Given the description of an element on the screen output the (x, y) to click on. 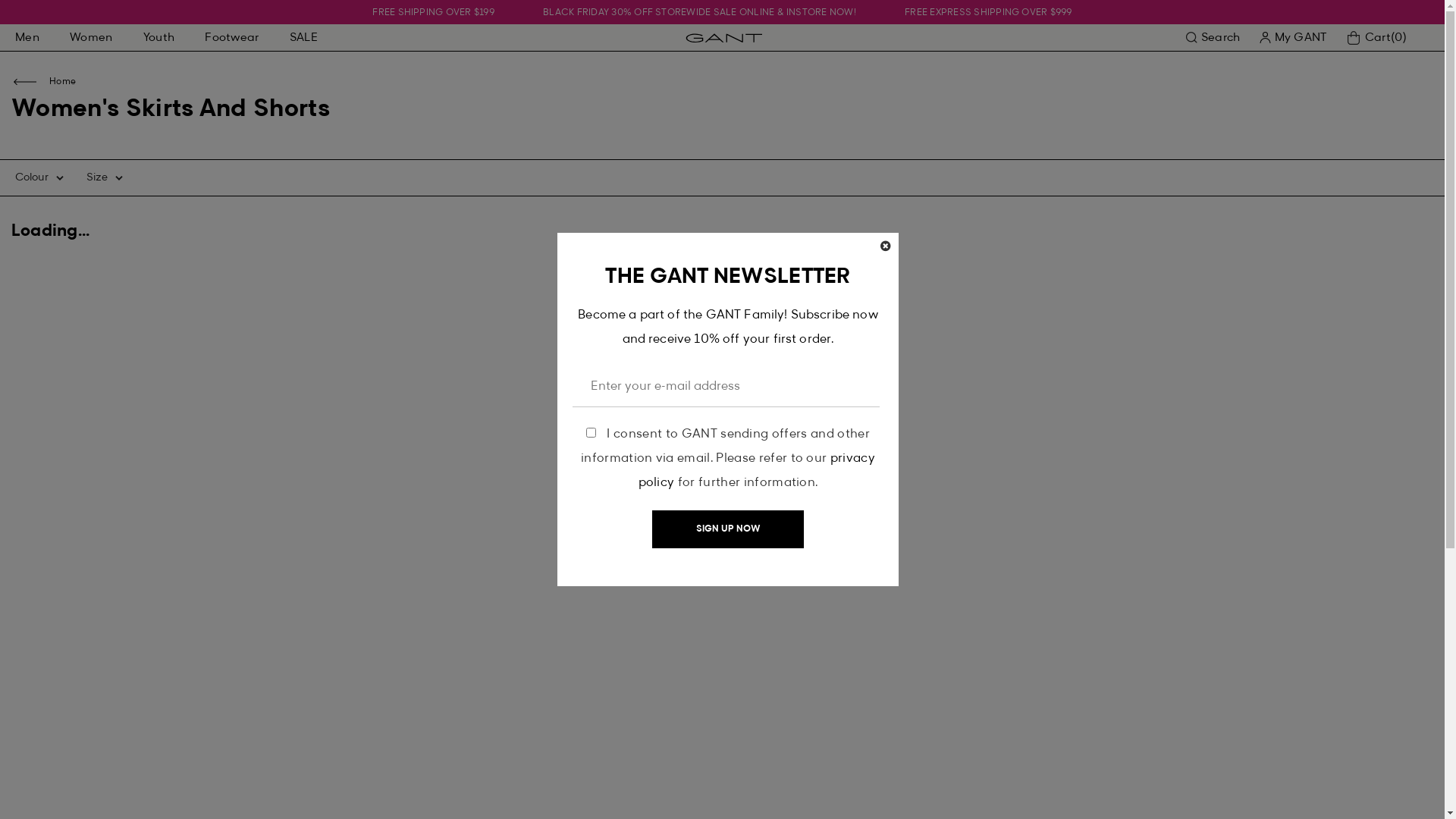
Colour Element type: text (39, 177)
My GANT Element type: text (1292, 37)
FREE SHIPPING OVER $199 Element type: text (433, 12)
BLACK FRIDAY 30% OFF STOREWIDE SALE ONLINE & INSTORE NOW! Element type: text (699, 12)
Home Element type: text (62, 81)
Size Element type: text (104, 177)
privacy policy Element type: text (756, 470)
Cart(0) Element type: text (1376, 37)
SIGN UP NOW Element type: text (727, 529)
FREE EXPRESS SHIPPING OVER $999 Element type: text (987, 12)
Search Element type: text (1213, 37)
